Given the description of an element on the screen output the (x, y) to click on. 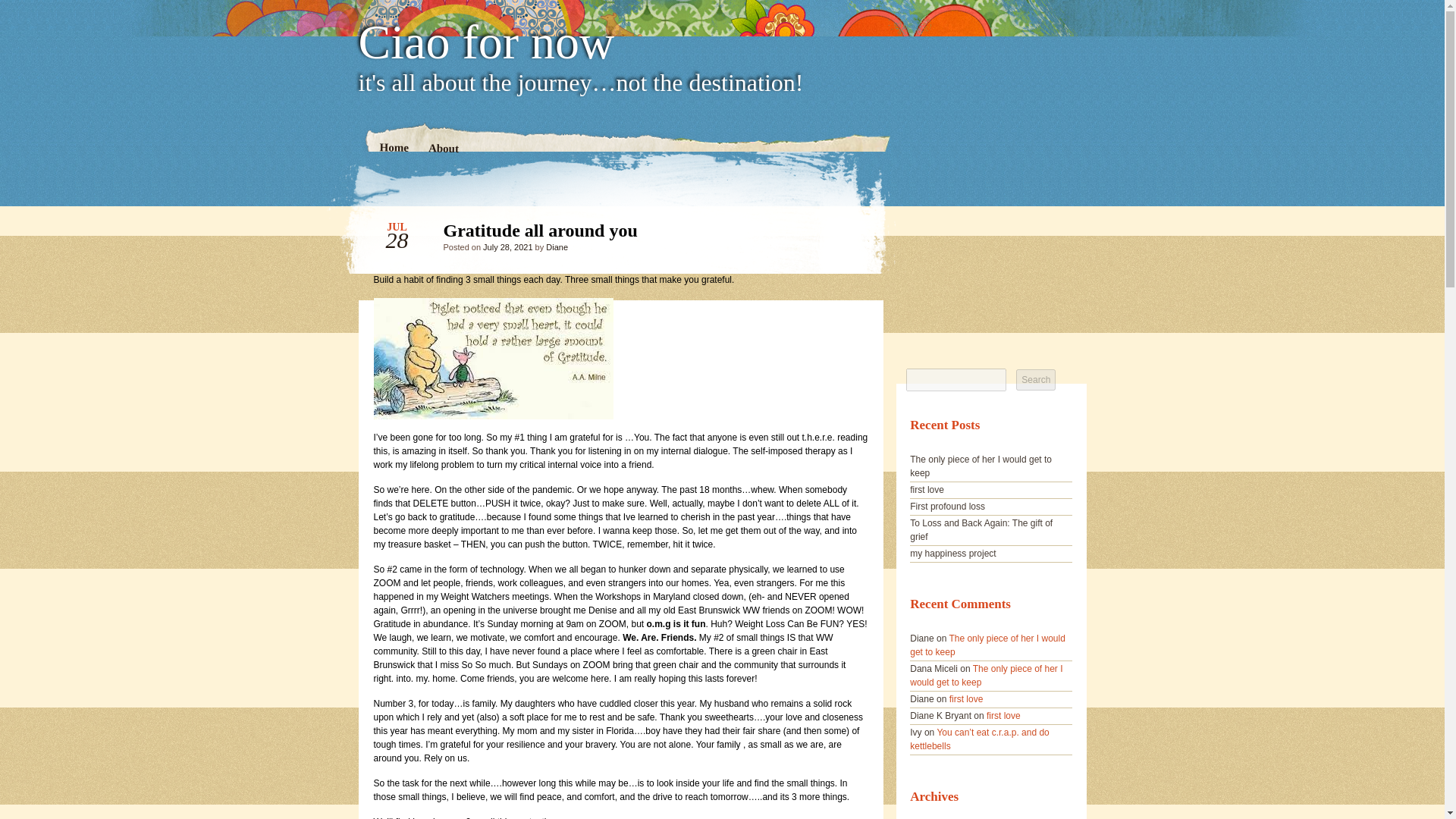
Permalink to Gratitude all around you (843, 234)
First profound loss (947, 506)
The only piece of her I would get to keep (986, 675)
Search (1035, 379)
Search (1035, 379)
View all posts by Diane (556, 246)
Home (393, 149)
About (442, 149)
first love (966, 698)
Diane (556, 246)
